Given the description of an element on the screen output the (x, y) to click on. 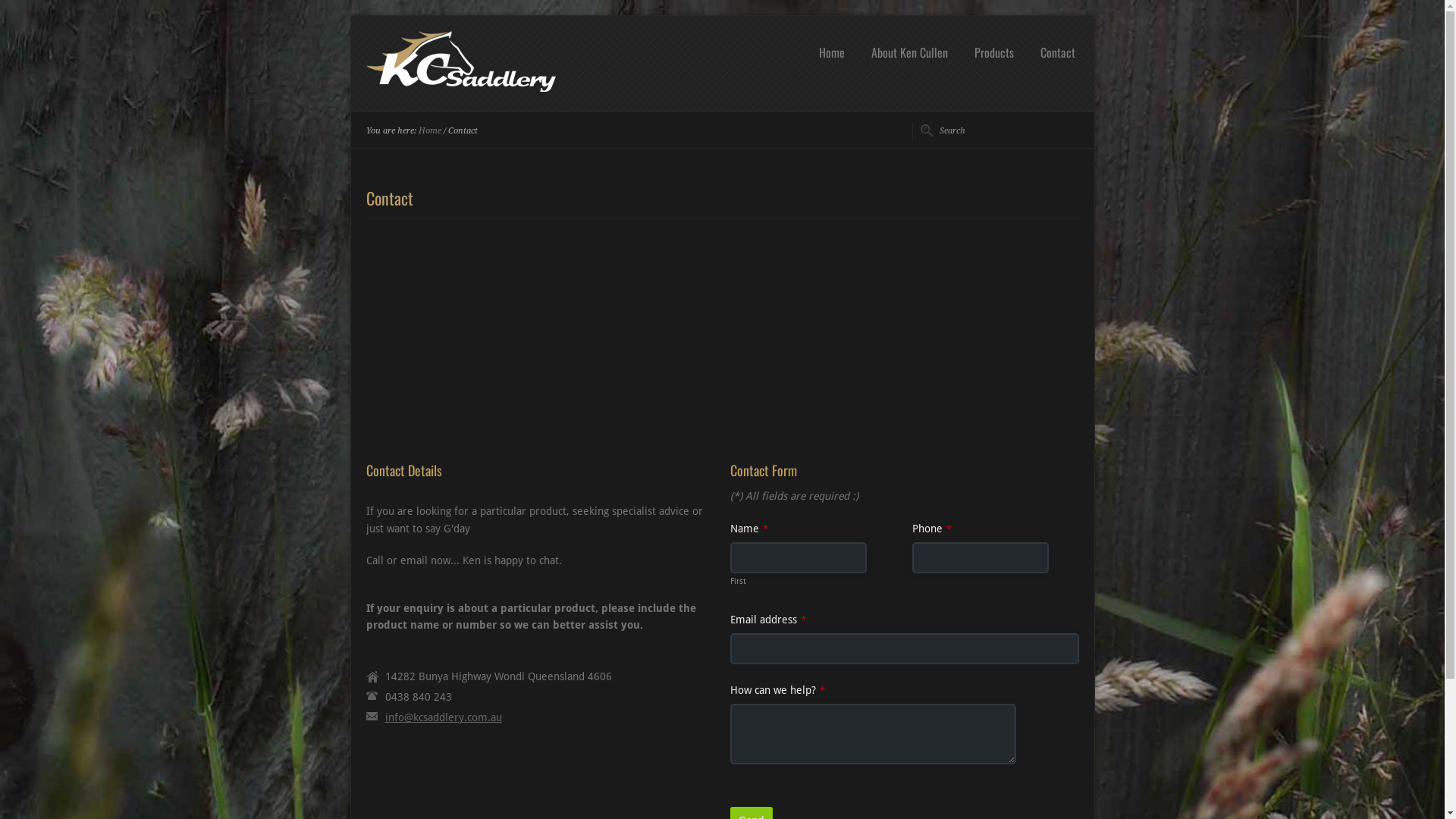
Contact Element type: text (1056, 52)
About Ken Cullen Element type: text (909, 52)
KC Saddlery Element type: hover (460, 87)
Home Element type: text (830, 52)
Products Element type: text (993, 52)
info@kcsaddlery.com.au Element type: text (443, 717)
Home Element type: text (429, 130)
